Given the description of an element on the screen output the (x, y) to click on. 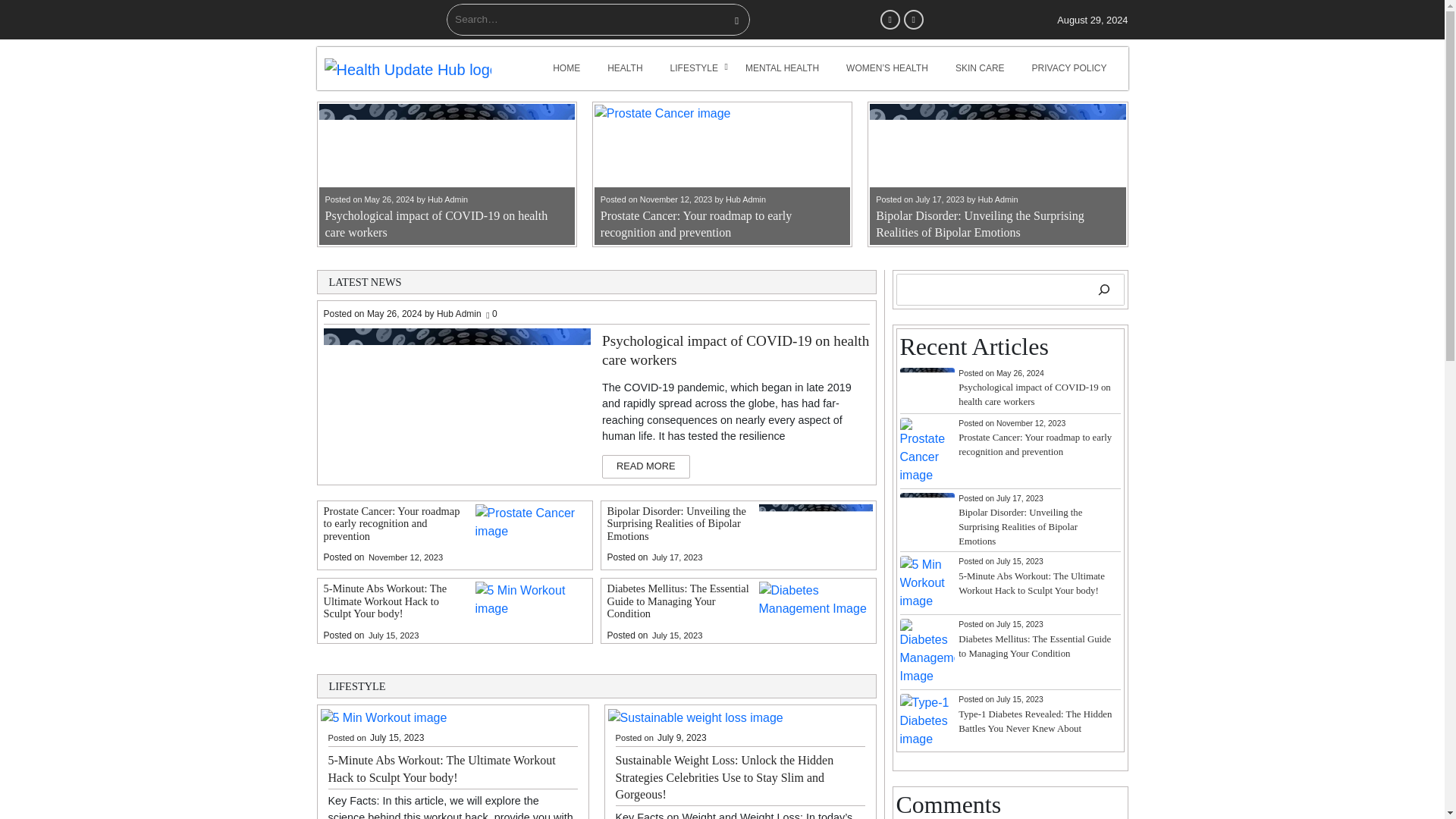
LIFESTYLE (694, 68)
Twitter (913, 19)
Facebook (889, 19)
Psychological impact of COVID-19 on health care workers (435, 224)
HOME (566, 68)
PRIVACY POLICY (1069, 68)
Hub Admin (996, 198)
Hub Admin (447, 198)
